Given the description of an element on the screen output the (x, y) to click on. 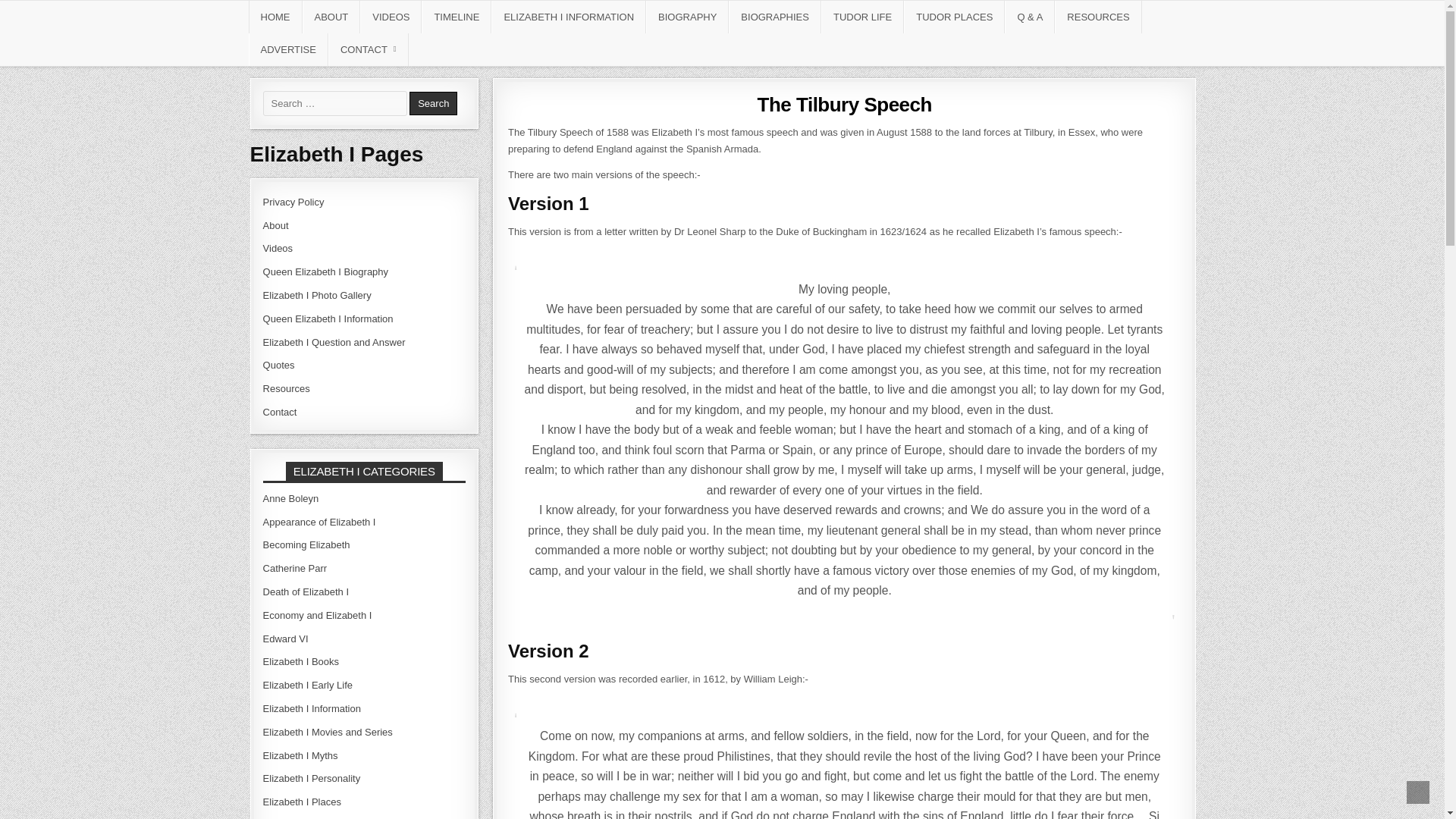
Privacy Policy (293, 202)
Elizabeth I Photo Gallery (317, 295)
Videos (278, 247)
TUDOR PLACES (954, 16)
RESOURCES (1097, 16)
CONTACT (369, 49)
About (275, 225)
ADVERTISE (288, 49)
Elizabeth I Question and Answer (334, 342)
BIOGRAPHY (687, 16)
ELIZABETH I INFORMATION (569, 16)
BIOGRAPHIES (775, 16)
HOME (275, 16)
Queen Elizabeth I Information (328, 318)
Search (433, 103)
